Given the description of an element on the screen output the (x, y) to click on. 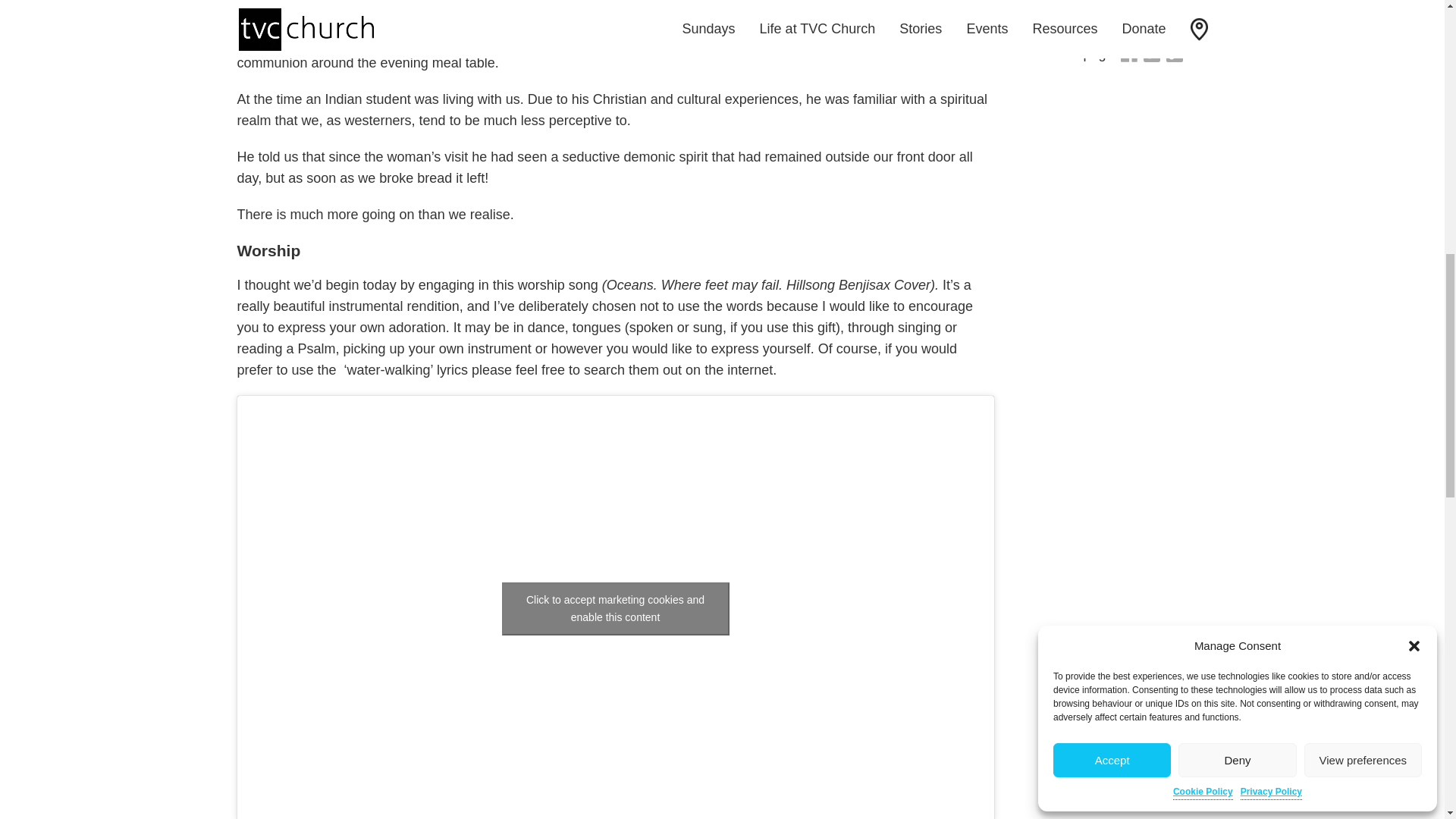
Facebook (1129, 54)
Copy Link (1174, 54)
Twitter (1151, 54)
